Given the description of an element on the screen output the (x, y) to click on. 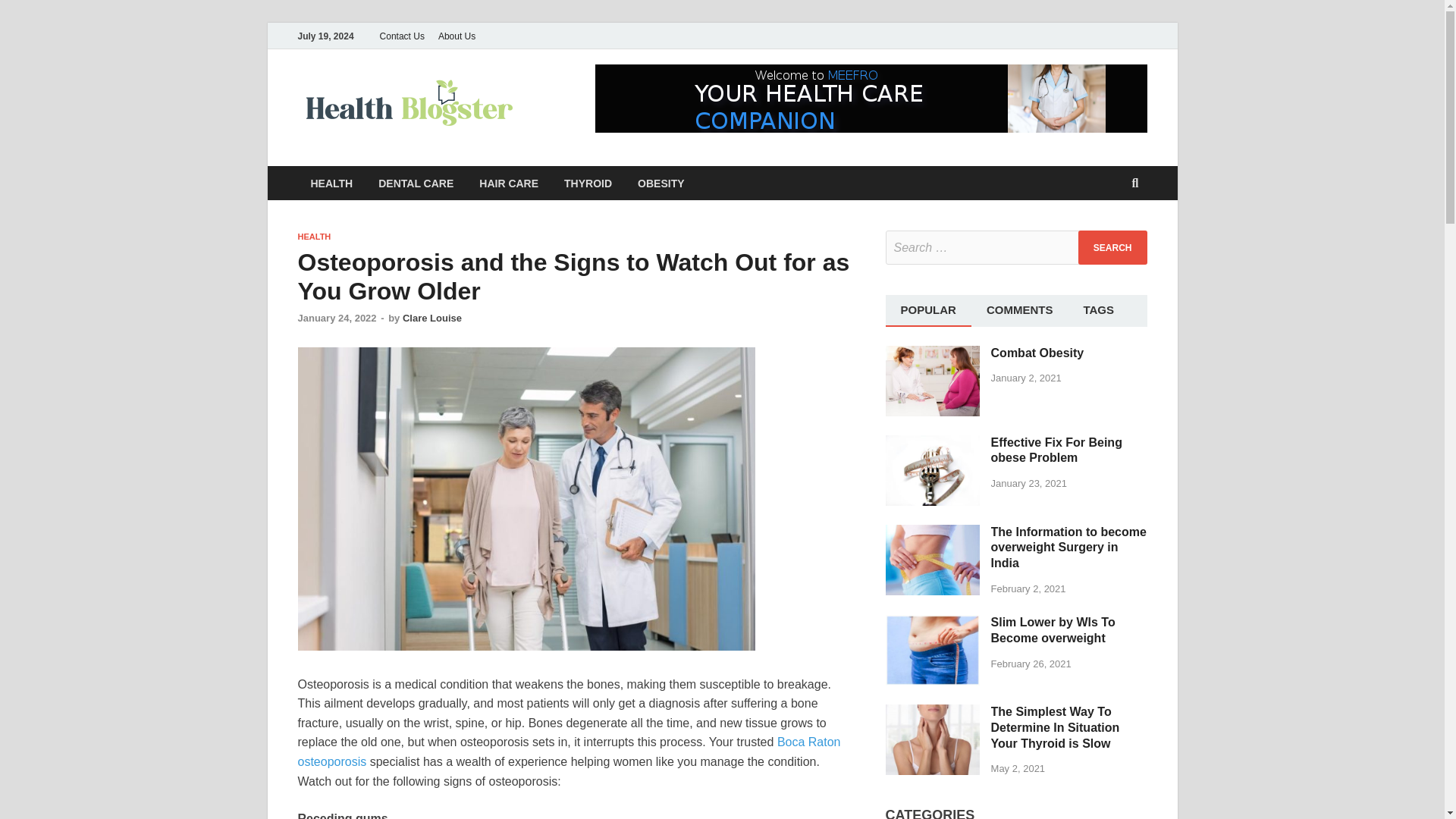
Search (1112, 247)
Combat Obesity (932, 353)
POPULAR (928, 309)
Effective Fix For Being obese Problem (932, 442)
HEALTH (331, 182)
Contact Us (401, 35)
January 24, 2022 (336, 317)
Search (1112, 247)
Clare Louise (432, 317)
Boca Raton osteoporosis (568, 751)
HAIR CARE (508, 182)
COMMENTS (1019, 309)
DENTAL CARE (415, 182)
The Information to become overweight Surgery in India (932, 532)
HEALTH (313, 235)
